Given the description of an element on the screen output the (x, y) to click on. 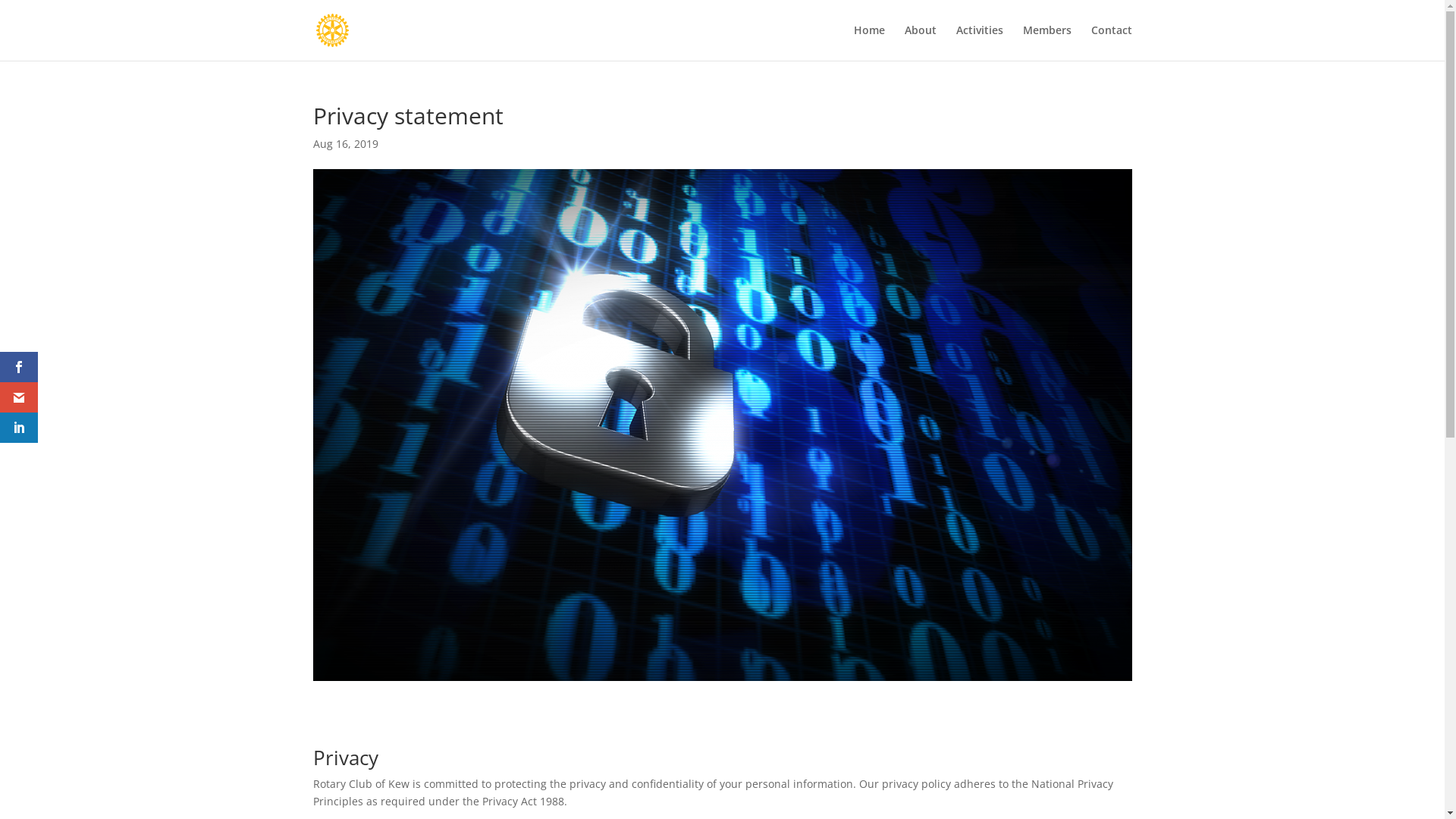
Members Element type: text (1046, 42)
Activities Element type: text (978, 42)
Contact Element type: text (1110, 42)
Home Element type: text (868, 42)
About Element type: text (919, 42)
